Given the description of an element on the screen output the (x, y) to click on. 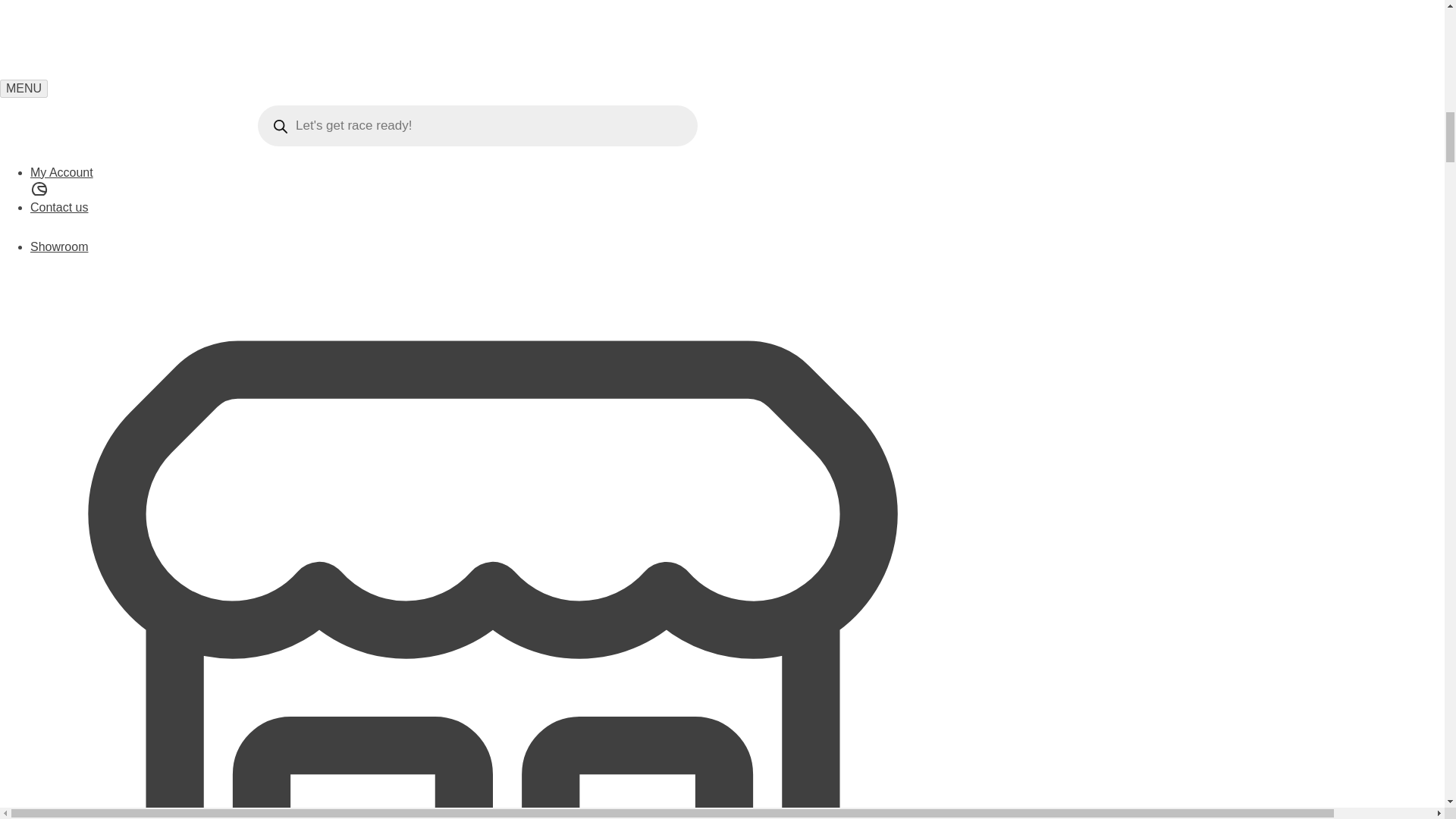
MENU (24, 88)
My Account (492, 183)
Contact us (492, 220)
